Given the description of an element on the screen output the (x, y) to click on. 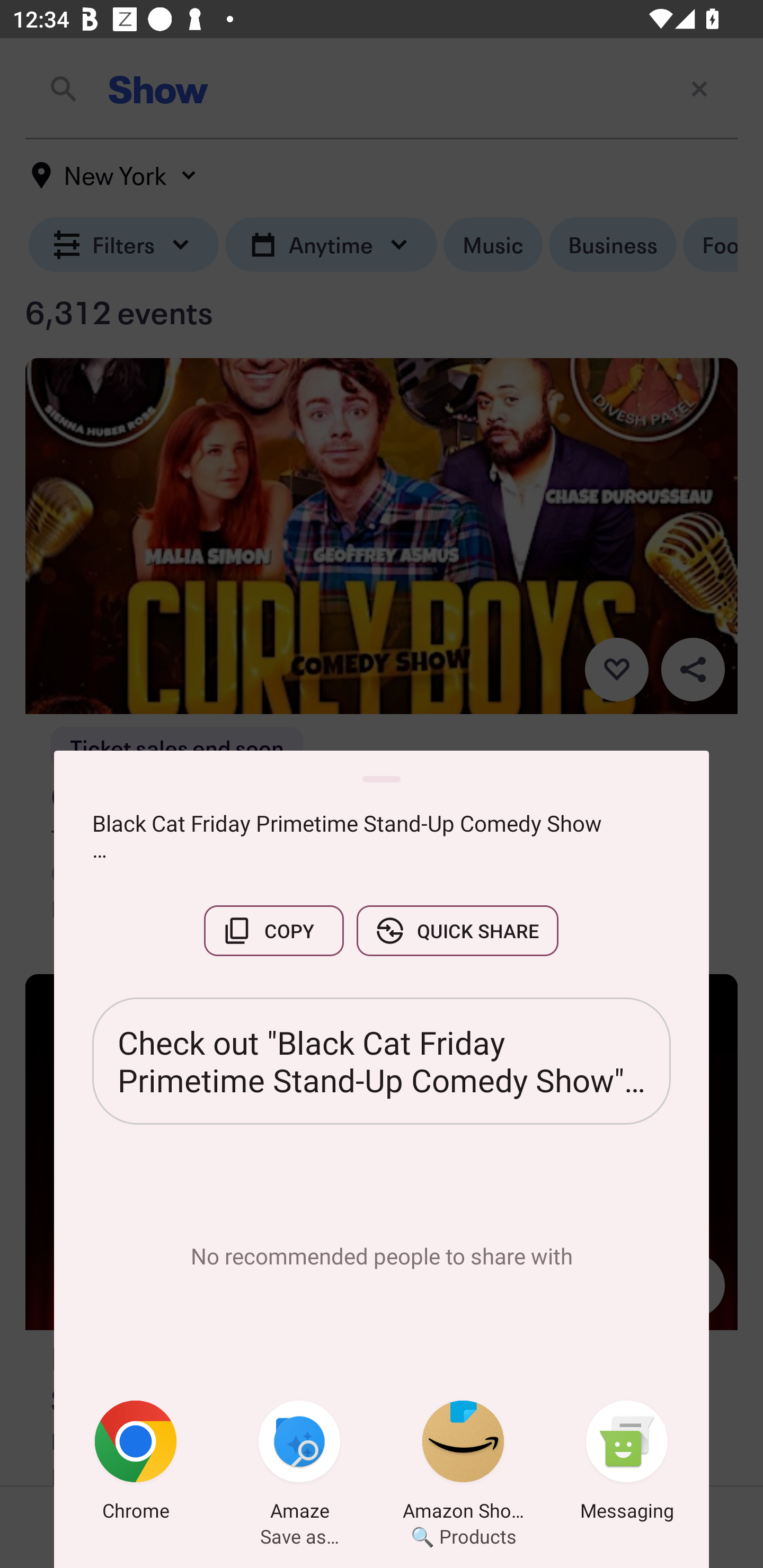
COPY (273, 930)
QUICK SHARE (457, 930)
Chrome (135, 1463)
Amaze Save as… (299, 1463)
Amazon Shopping 🔍 Products (463, 1463)
Messaging (626, 1463)
